Given the description of an element on the screen output the (x, y) to click on. 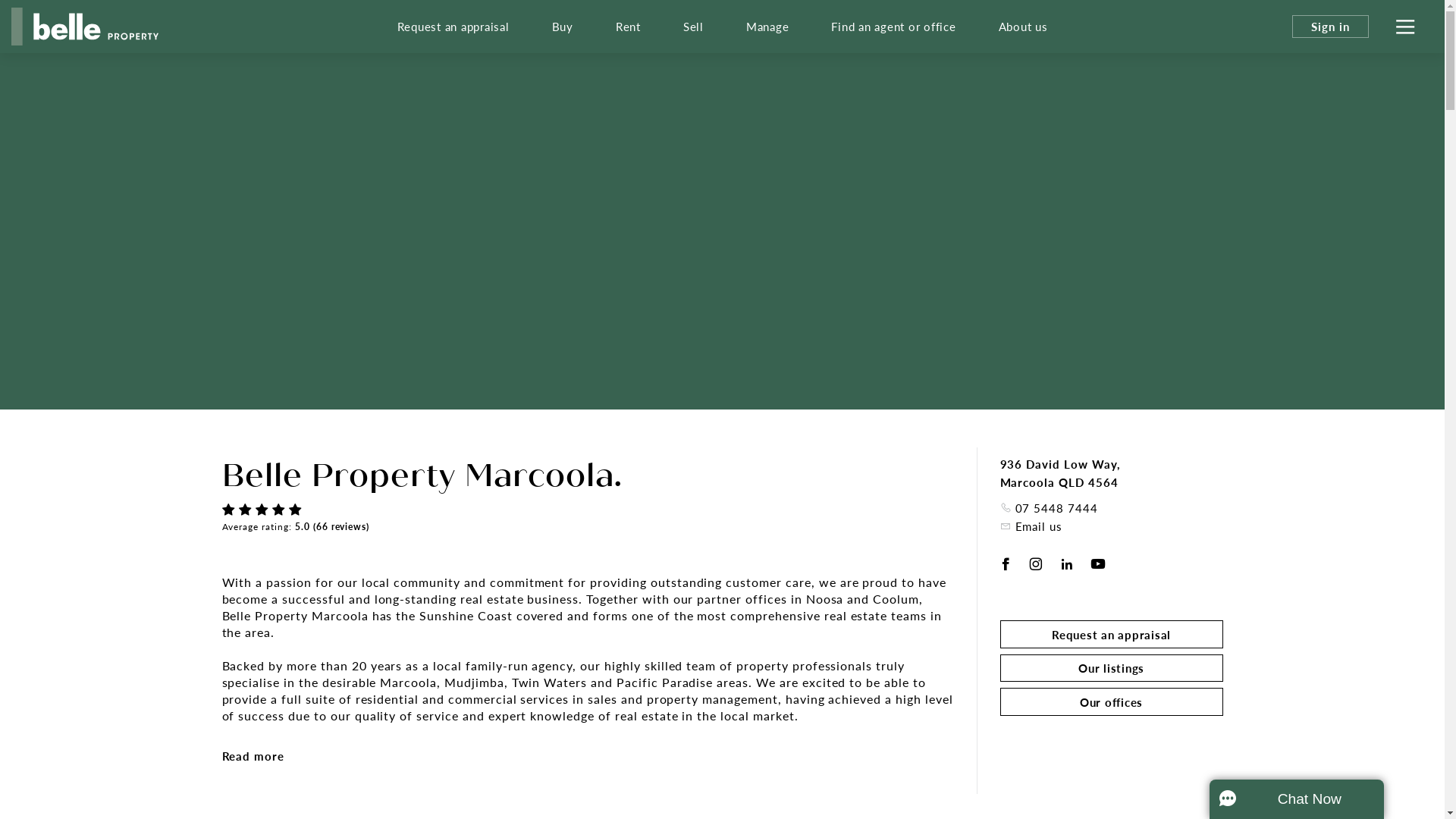
Request an appraisal Element type: text (453, 26)
Our listings Element type: text (1110, 667)
Find an agent or office Element type: text (893, 26)
Read more Element type: text (252, 755)
Email us Element type: text (1030, 526)
Sell Element type: text (693, 26)
About us Element type: text (1022, 26)
Buy Element type: text (562, 26)
936 David Low Way,
Marcoola QLD 4564 Element type: text (1059, 473)
Request an appraisal Element type: text (1110, 634)
Our offices Element type: text (1110, 701)
Manage Element type: text (767, 26)
Average rating: 5.0 (66 reviews) Element type: text (295, 526)
Rent Element type: text (628, 26)
07 5448 7444 Element type: text (1048, 507)
